Given the description of an element on the screen output the (x, y) to click on. 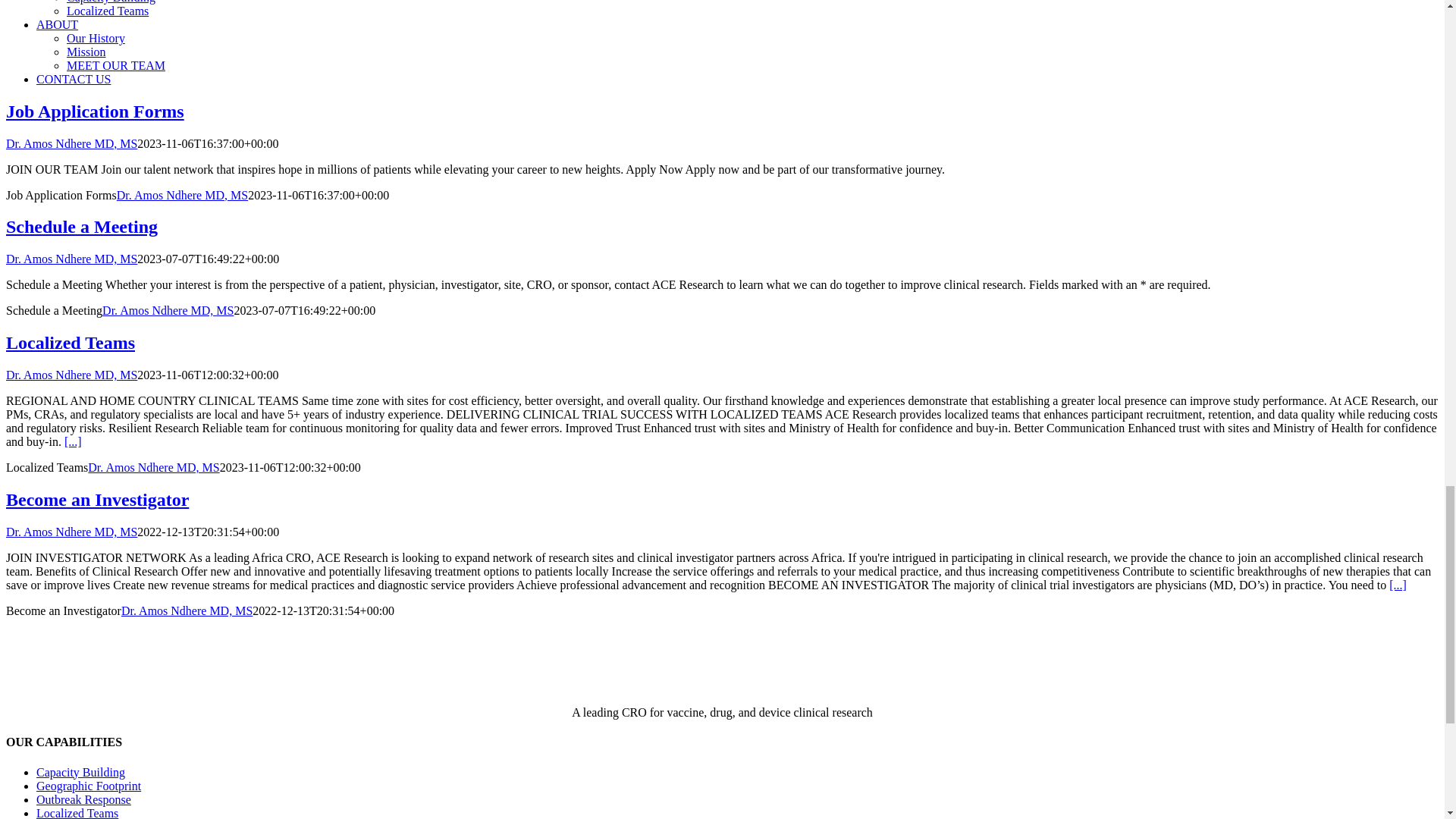
Posts by Dr. Amos Ndhere MD, MS (70, 374)
Posts by Dr. Amos Ndhere MD, MS (70, 258)
Posts by Dr. Amos Ndhere MD, MS (70, 143)
Posts by Dr. Amos Ndhere MD, MS (185, 610)
Posts by Dr. Amos Ndhere MD, MS (166, 309)
Posts by Dr. Amos Ndhere MD, MS (153, 467)
Posts by Dr. Amos Ndhere MD, MS (181, 195)
Posts by Dr. Amos Ndhere MD, MS (70, 531)
